Given the description of an element on the screen output the (x, y) to click on. 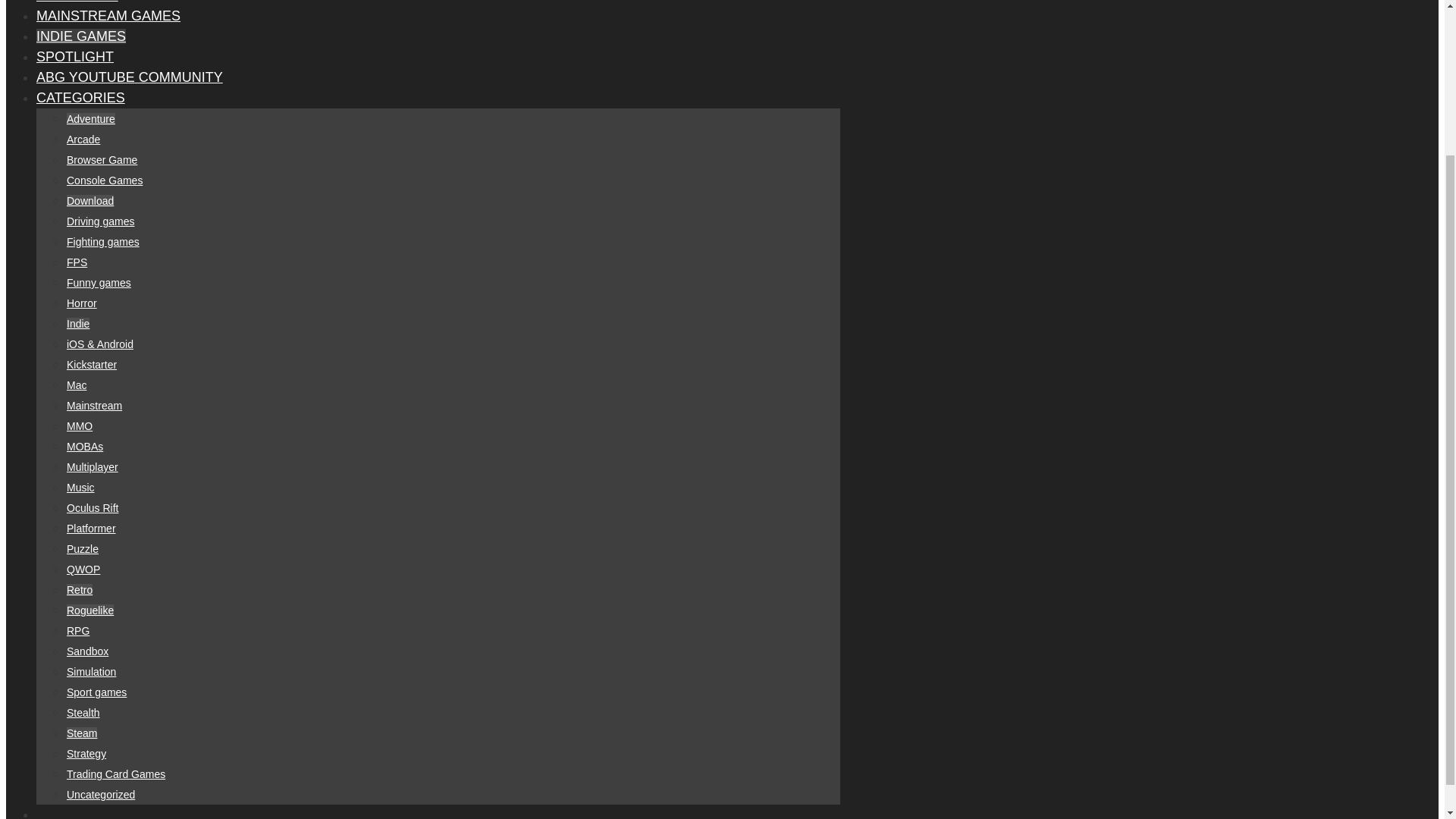
HOME PAGE (76, 1)
SPOTLIGHT (74, 56)
Browser Game (101, 159)
Roguelike (89, 610)
Arcade (83, 139)
Driving games (99, 221)
Mainstream (94, 405)
RPG (77, 630)
Download (89, 200)
Simulation (91, 671)
